Given the description of an element on the screen output the (x, y) to click on. 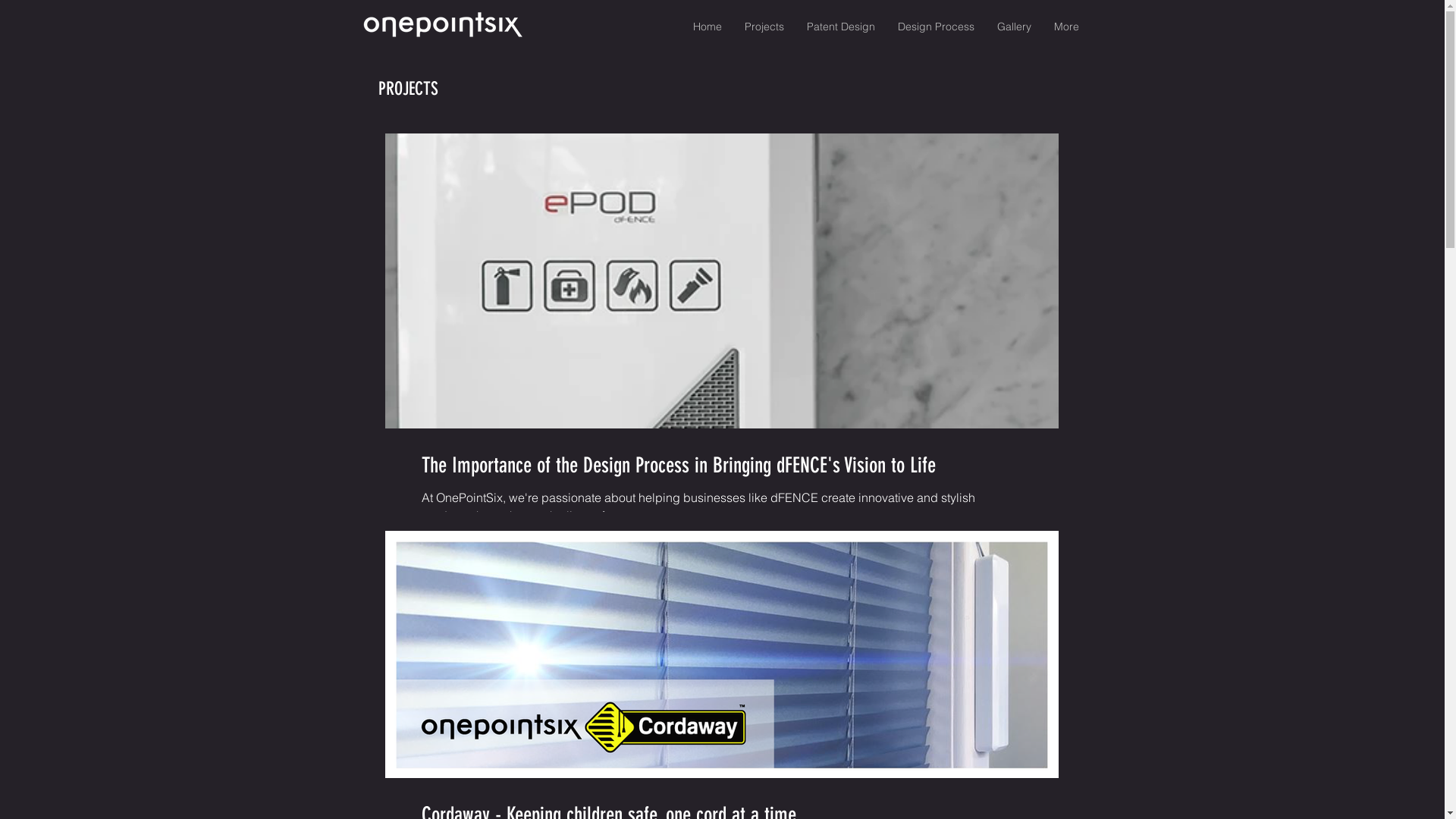
Design Process Element type: text (935, 26)
Gallery Element type: text (1013, 26)
Home Element type: text (706, 26)
Patent Design Element type: text (839, 26)
Projects Element type: text (763, 26)
